Given the description of an element on the screen output the (x, y) to click on. 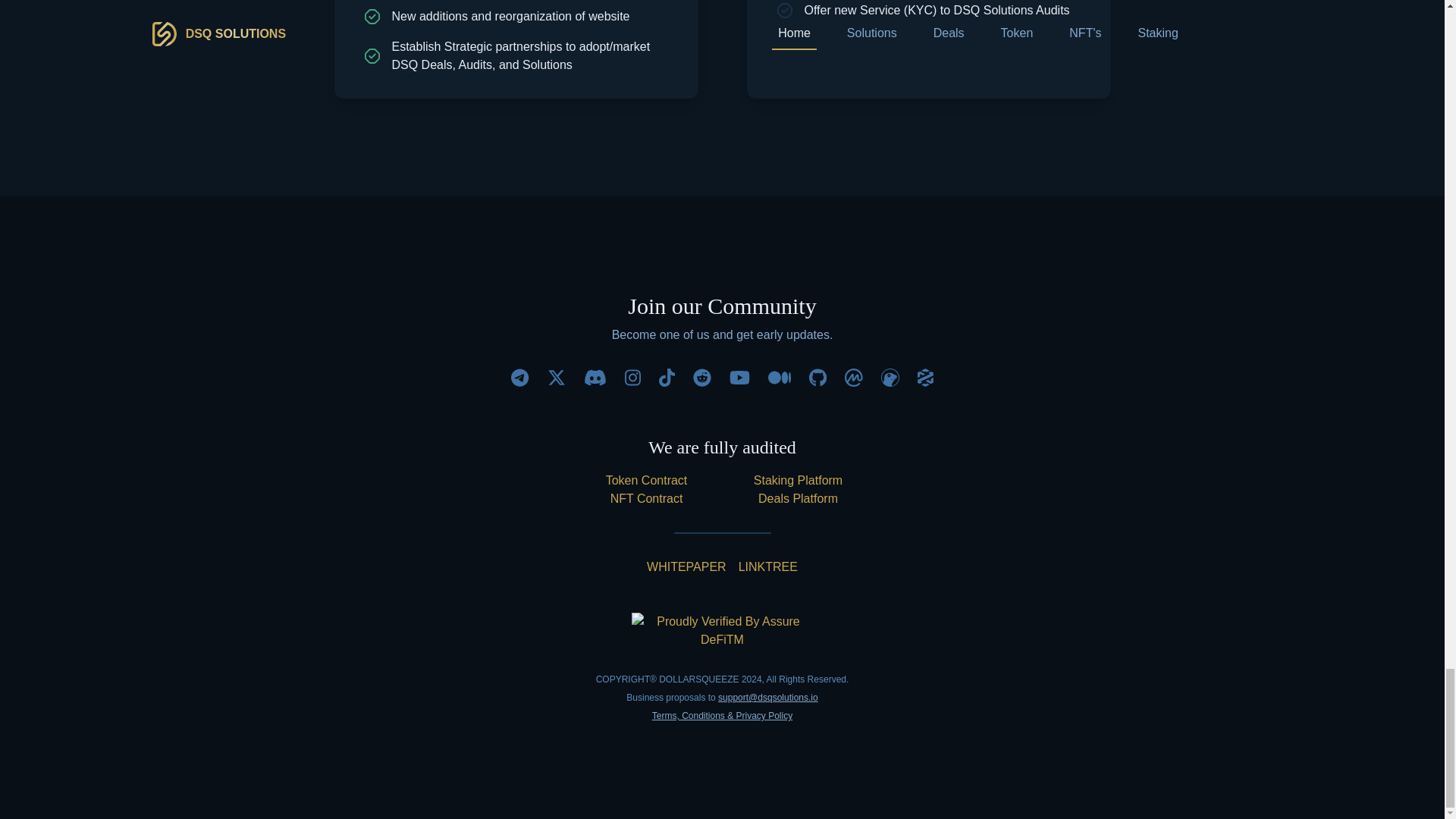
Deals Platform (797, 498)
WHITEPAPER (686, 566)
NFT Contract (646, 498)
Staking Platform (797, 480)
Token Contract (646, 480)
